Given the description of an element on the screen output the (x, y) to click on. 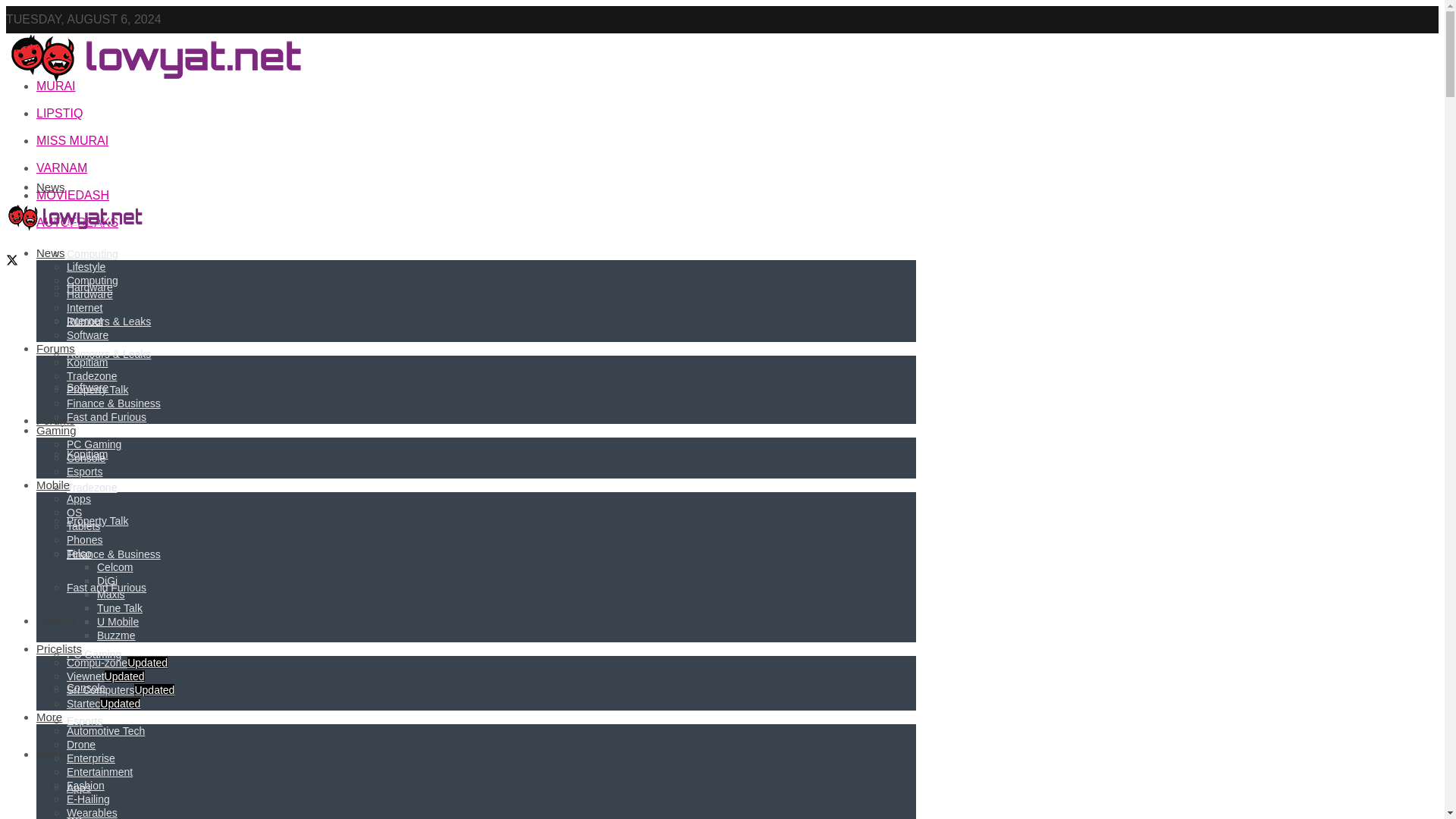
Console (85, 687)
HYPE (52, 58)
Tradezone (91, 487)
Lifestyle (85, 220)
MURAI (55, 85)
Kopitiam (86, 453)
News (50, 186)
Hardware (89, 287)
PC Gaming (93, 654)
Mobile (52, 753)
AUTOFREAKS (76, 222)
Esports (83, 720)
Fast and Furious (106, 587)
Computing (91, 254)
VARNAM (61, 167)
